Given the description of an element on the screen output the (x, y) to click on. 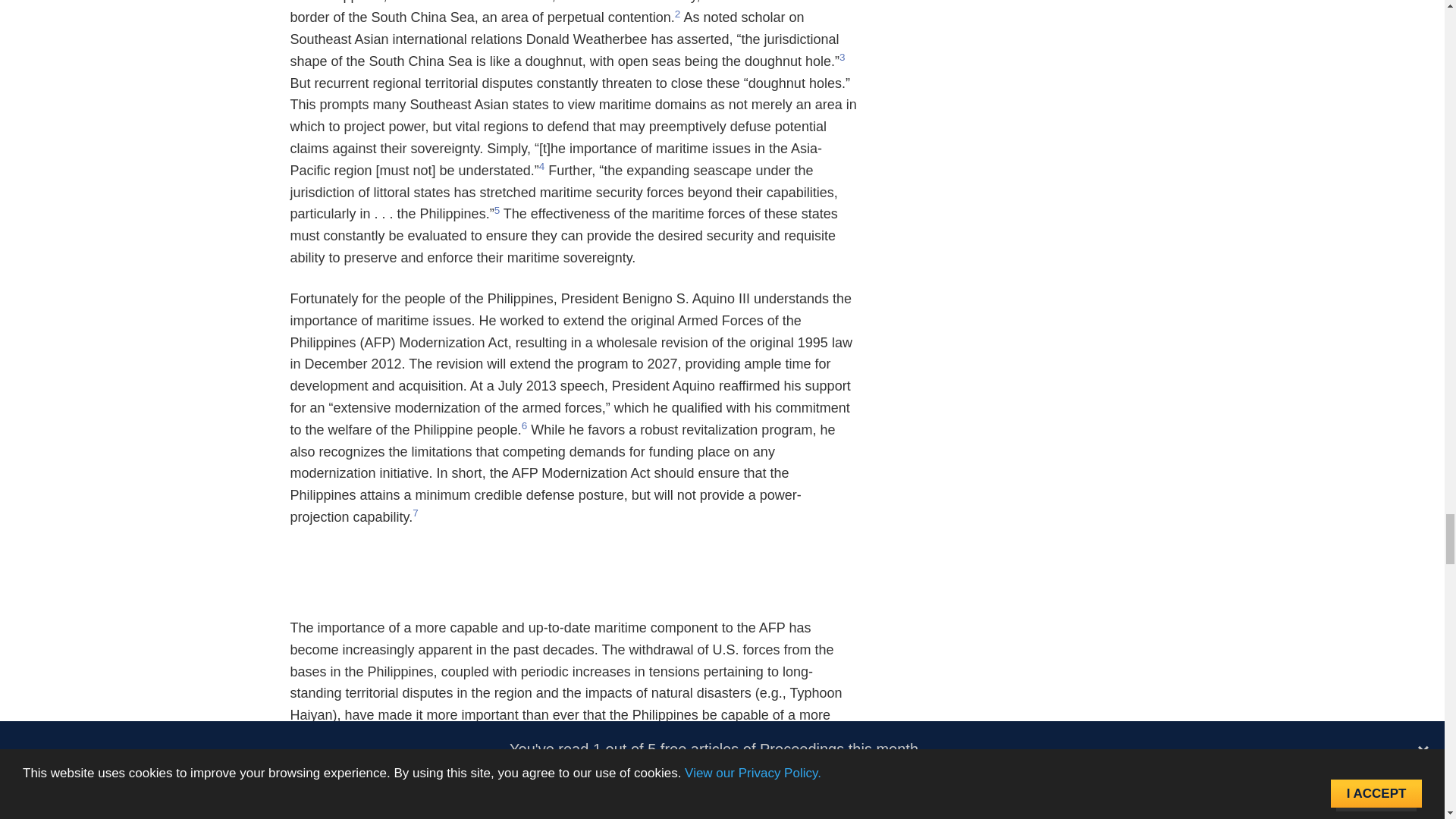
3rd party ad content (574, 582)
